Given the description of an element on the screen output the (x, y) to click on. 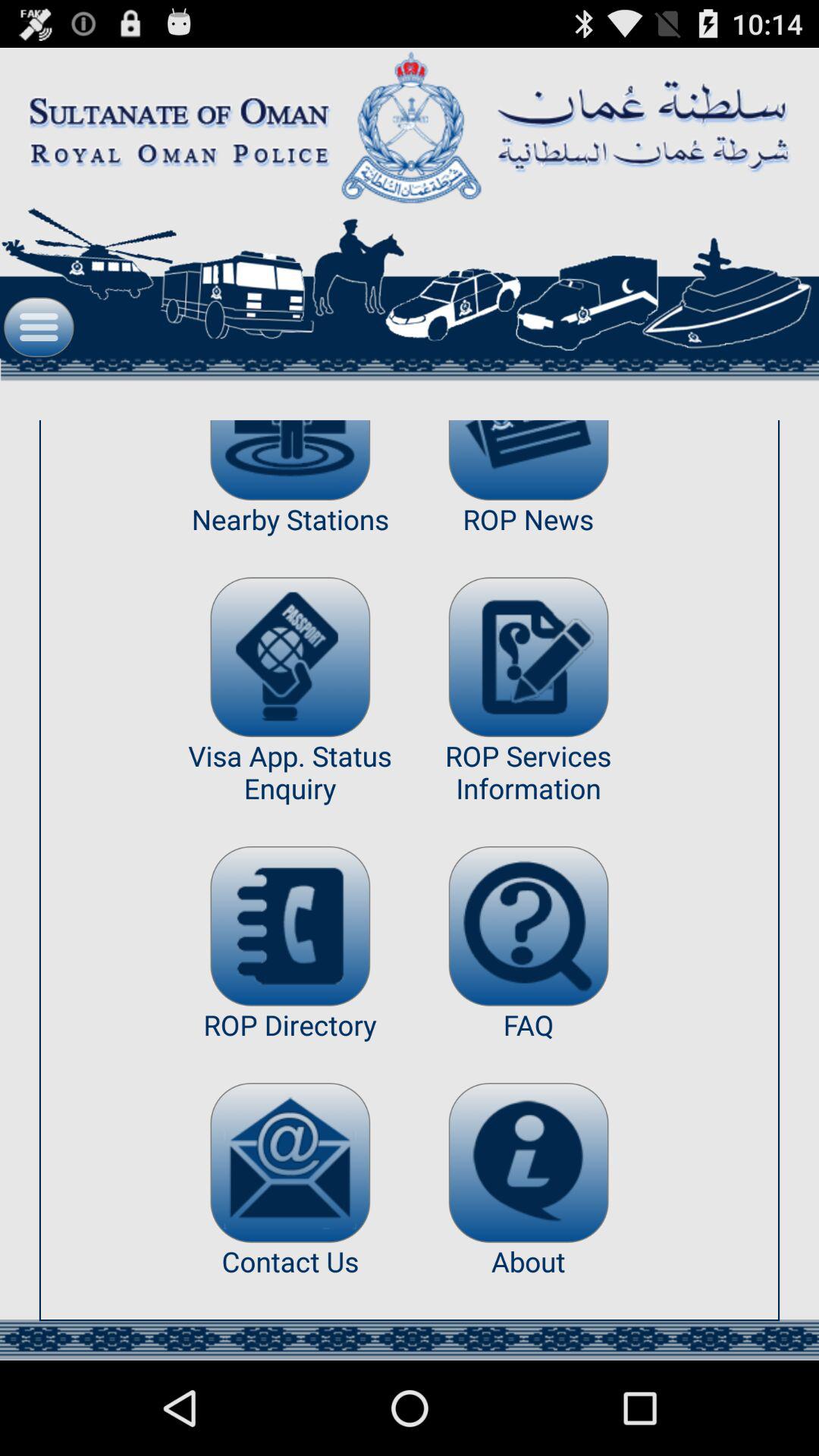
open visa application status enquiry (290, 657)
